Given the description of an element on the screen output the (x, y) to click on. 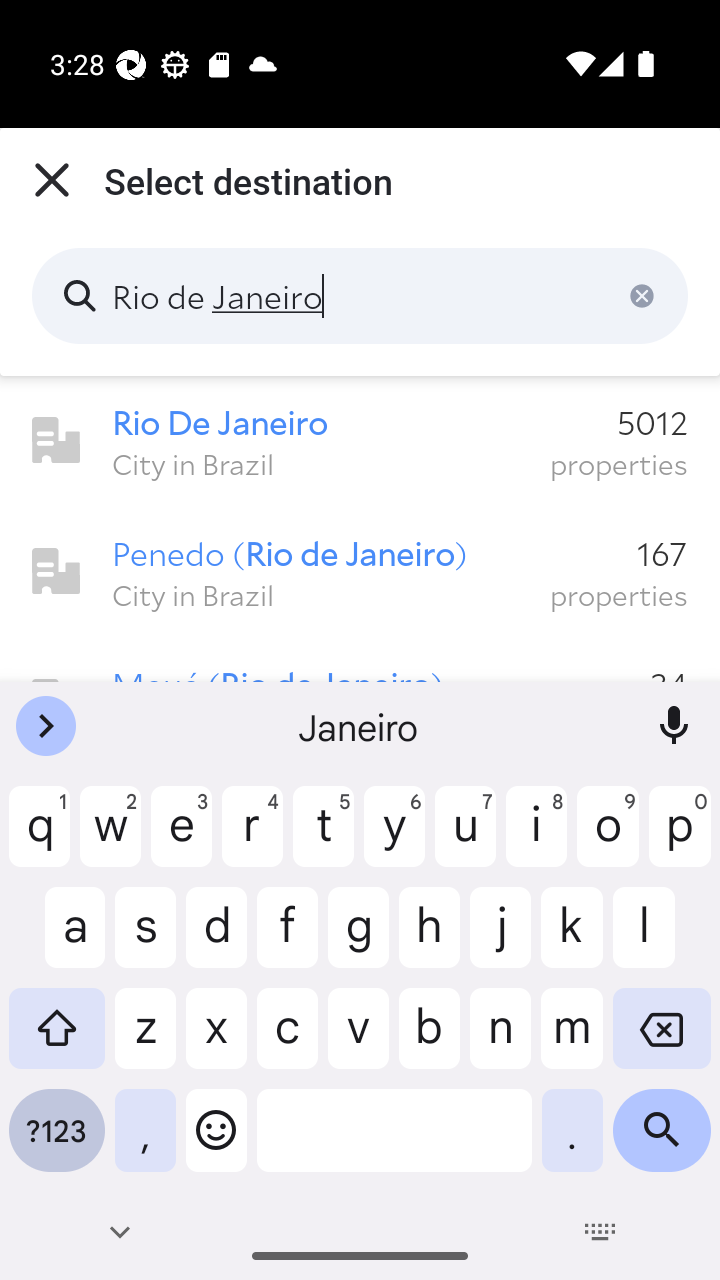
Rio de Janeiro (359, 296)
Rio De Janeiro 5012 City in Brazil properties (360, 441)
